Given the description of an element on the screen output the (x, y) to click on. 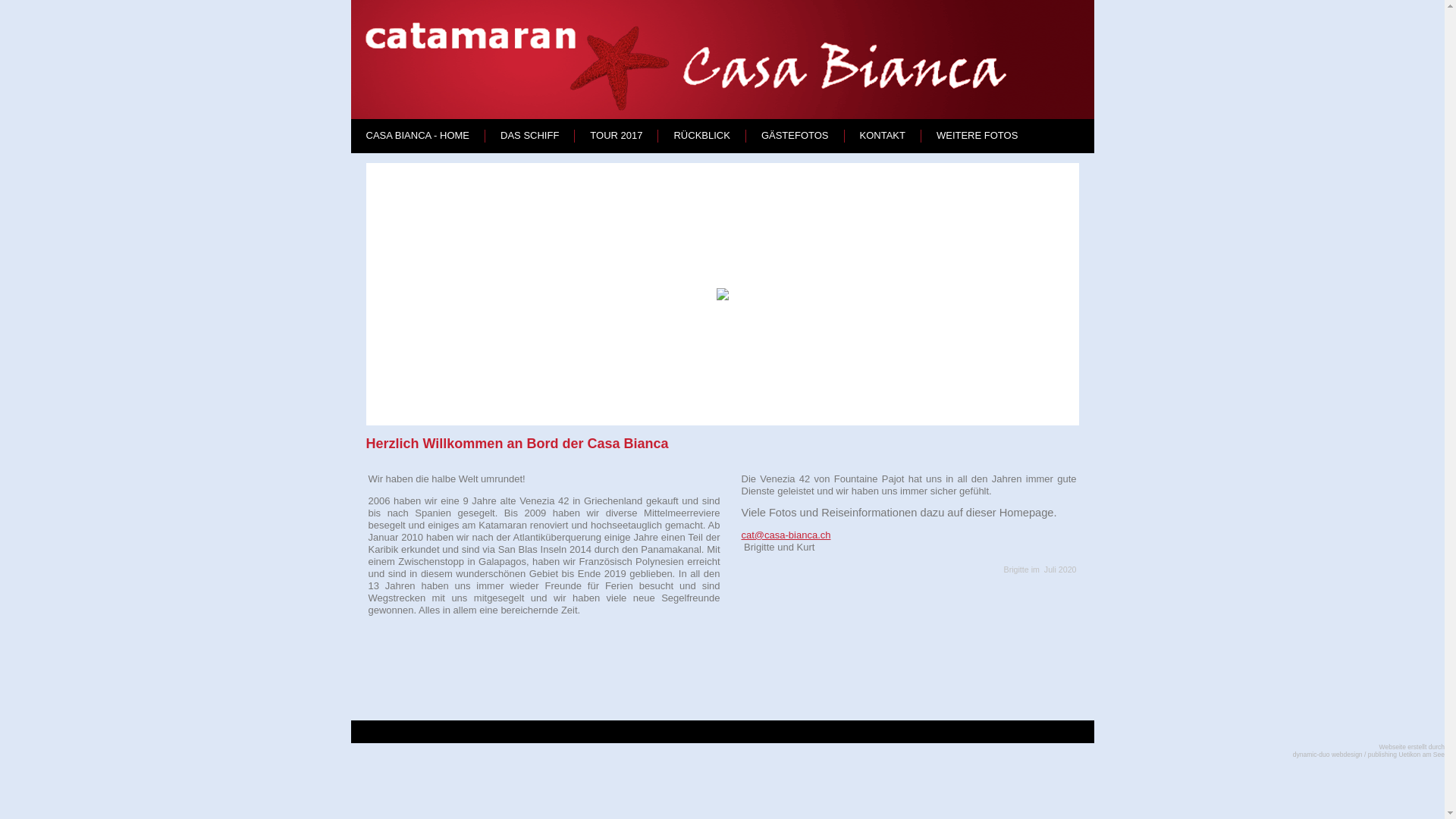
WEITERE FOTOS Element type: text (976, 135)
TOUR 2017 Element type: text (615, 135)
DAS SCHIFF Element type: text (529, 135)
CASA BIANCA - HOME Element type: text (416, 135)
KONTAKT Element type: text (882, 135)
cat@casa-bianca.ch Element type: text (786, 534)
